Given the description of an element on the screen output the (x, y) to click on. 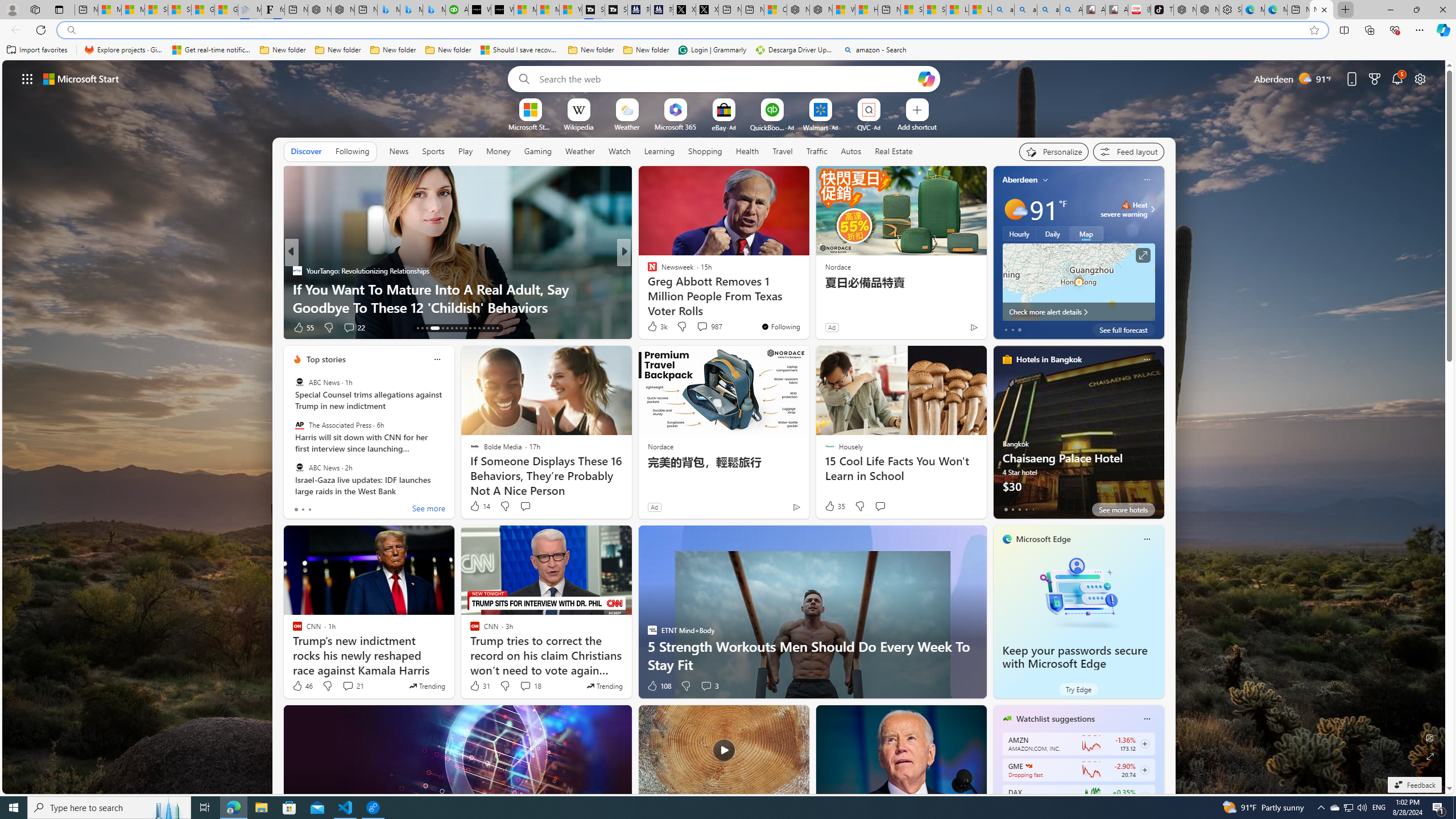
Nordace.com (663, 288)
432 Like (654, 327)
Debunking 14 Common Myths About Strength Training (807, 298)
AutomationID: tab-13 (417, 328)
AutomationID: tab-21 (460, 328)
Nordace Siena Pro 15 Backpack (1207, 9)
Accounting Software for Accountants, CPAs and Bookkeepers (457, 9)
New folder (646, 49)
AutomationID: tab-22 (465, 328)
241 Like (654, 327)
